Given the description of an element on the screen output the (x, y) to click on. 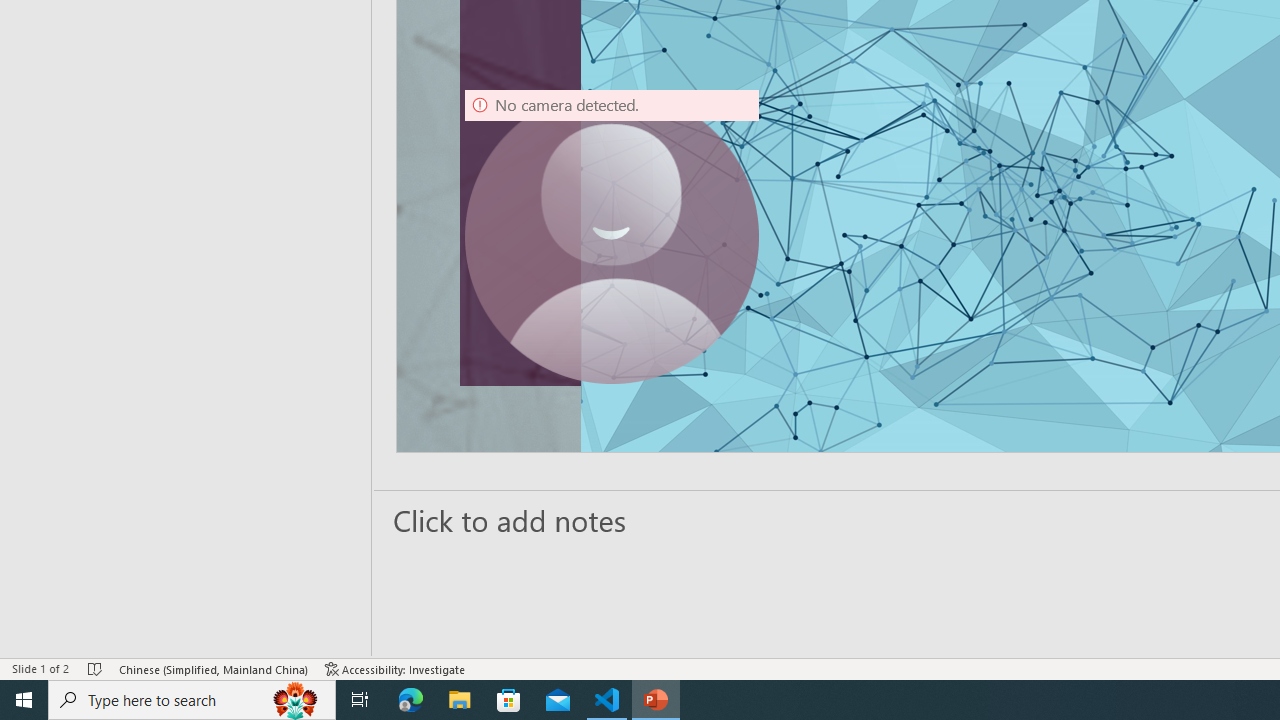
Camera 9, No camera detected. (612, 236)
